Given the description of an element on the screen output the (x, y) to click on. 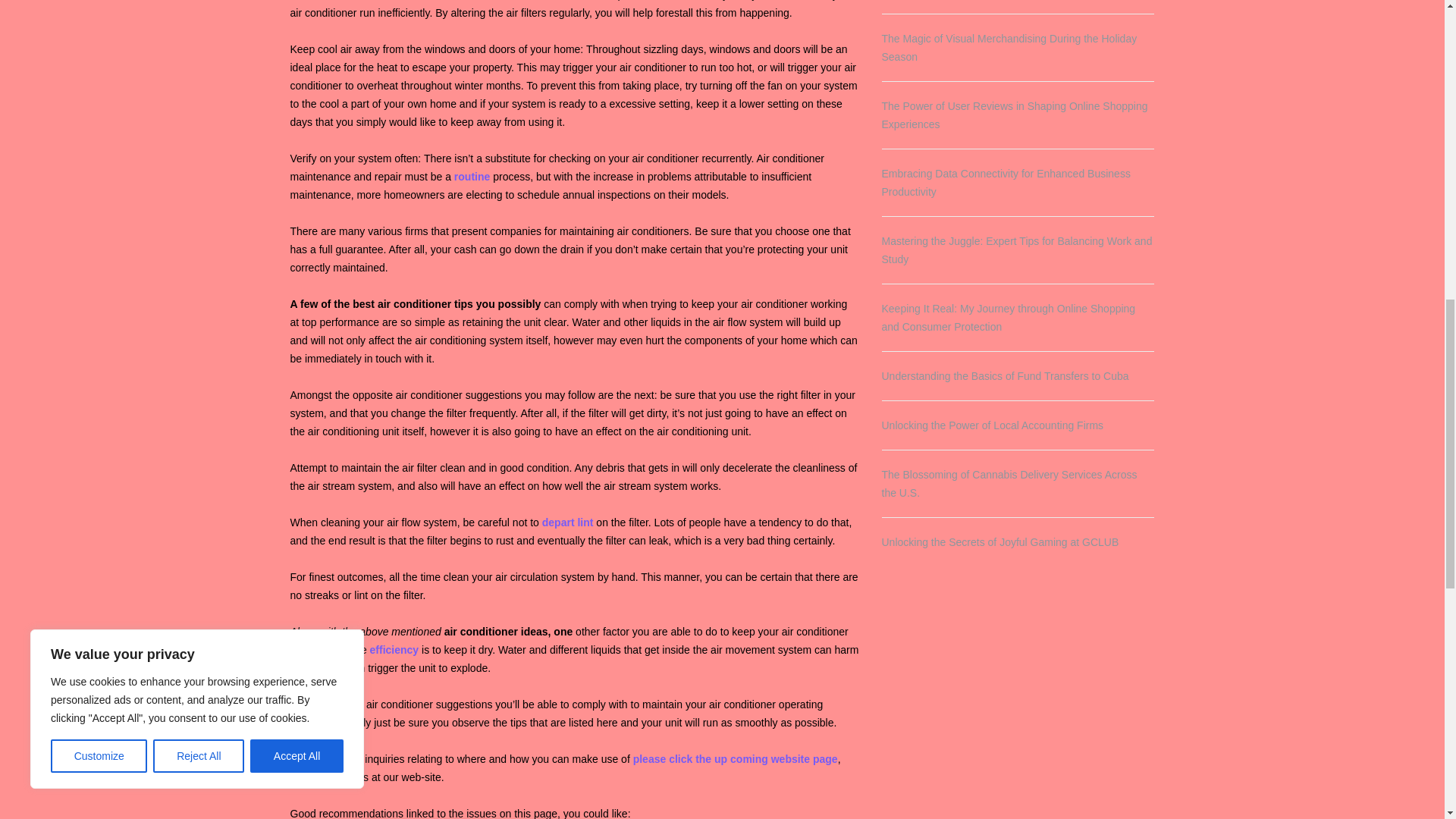
depart lint (567, 522)
routine (471, 176)
please click the up coming website page (735, 758)
efficiency (394, 649)
